Given the description of an element on the screen output the (x, y) to click on. 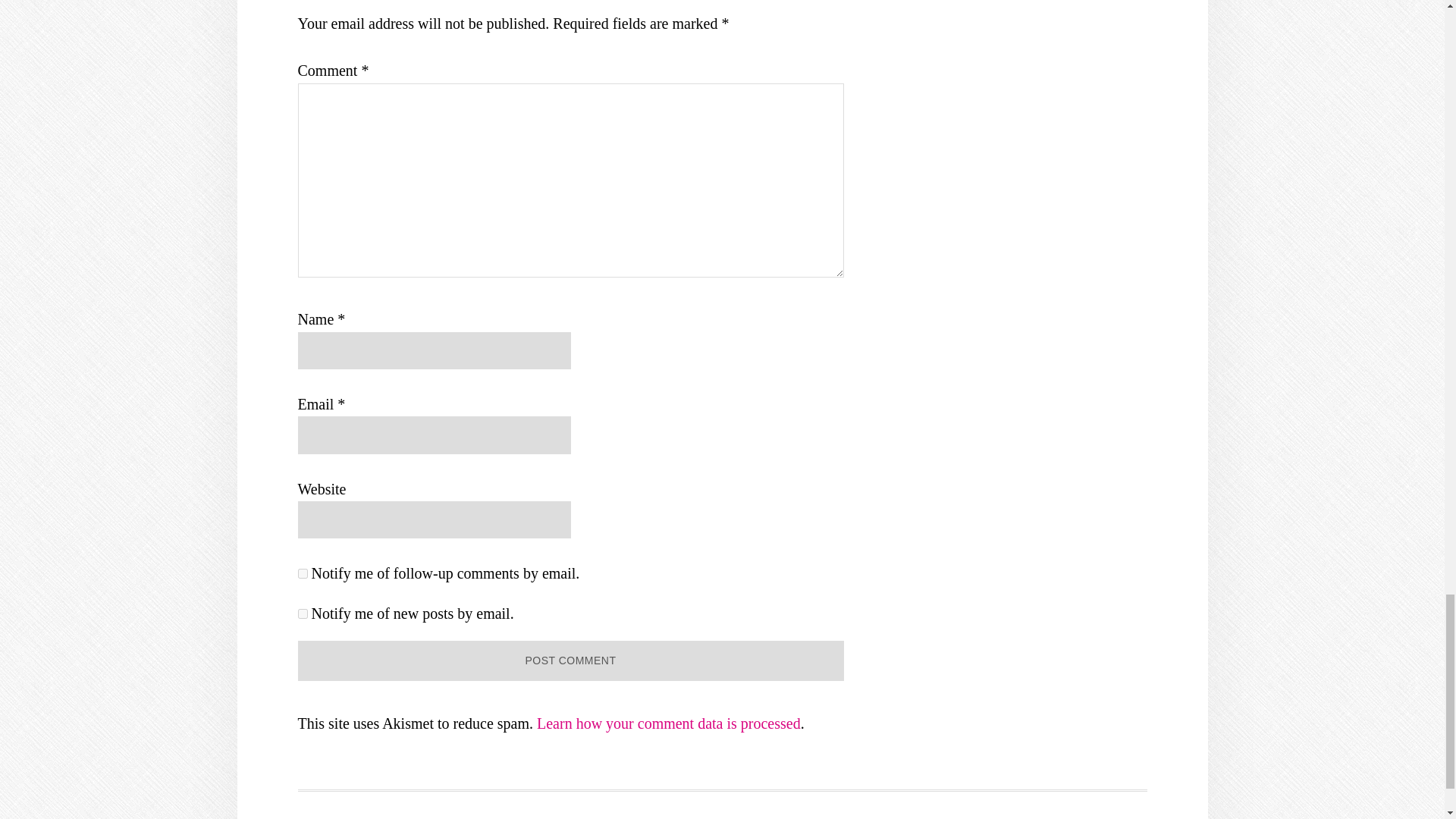
Post Comment (570, 660)
subscribe (302, 614)
subscribe (302, 573)
